Given the description of an element on the screen output the (x, y) to click on. 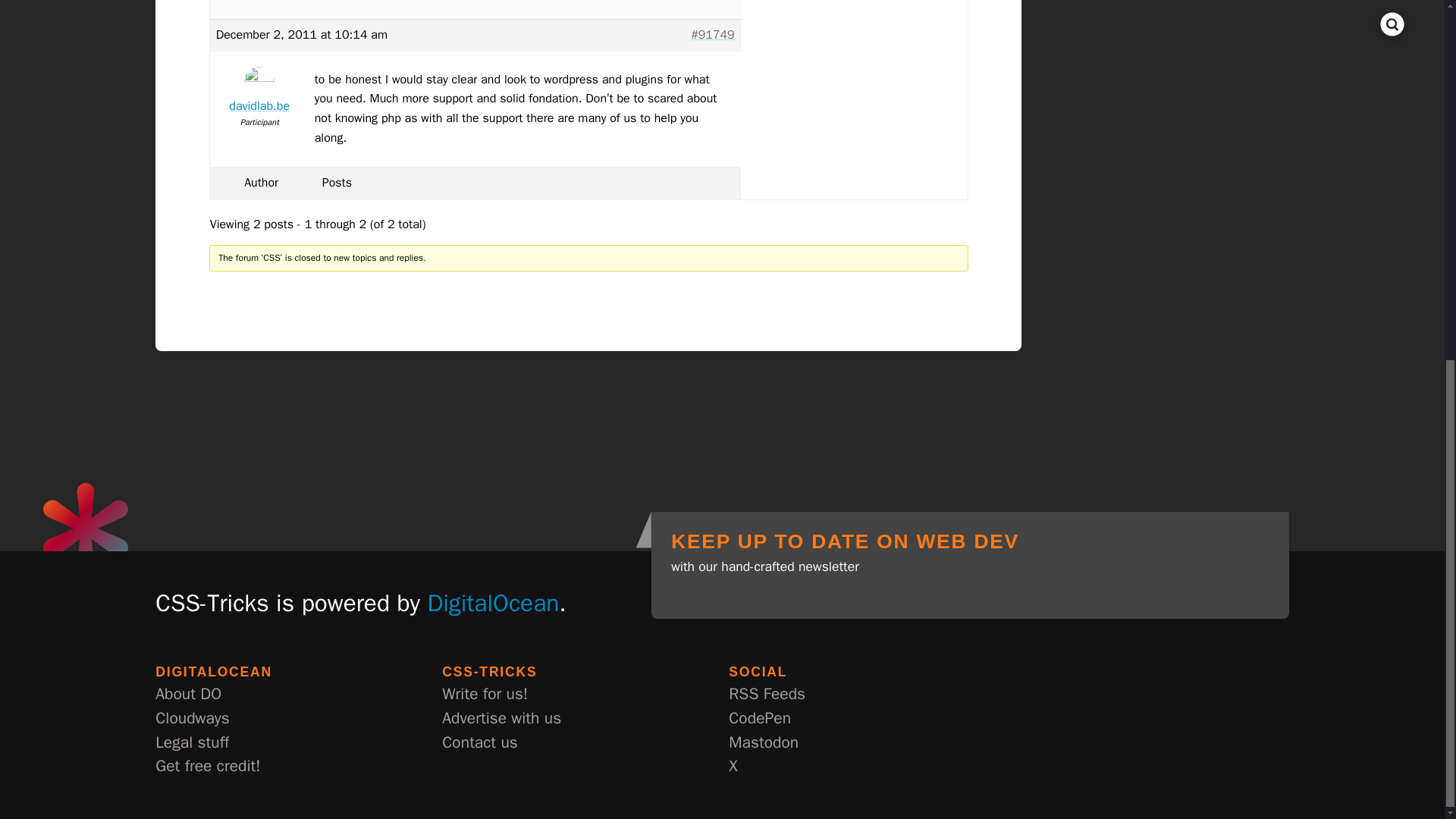
RSS Feeds (767, 694)
Get free credit! (207, 766)
Cloudways (191, 718)
CodePen (759, 718)
View davidlab.be's profile (258, 93)
davidlab.be (258, 93)
Mastodon (763, 743)
About DO (188, 694)
DigitalOcean (492, 603)
Write for us! (484, 694)
